Given the description of an element on the screen output the (x, y) to click on. 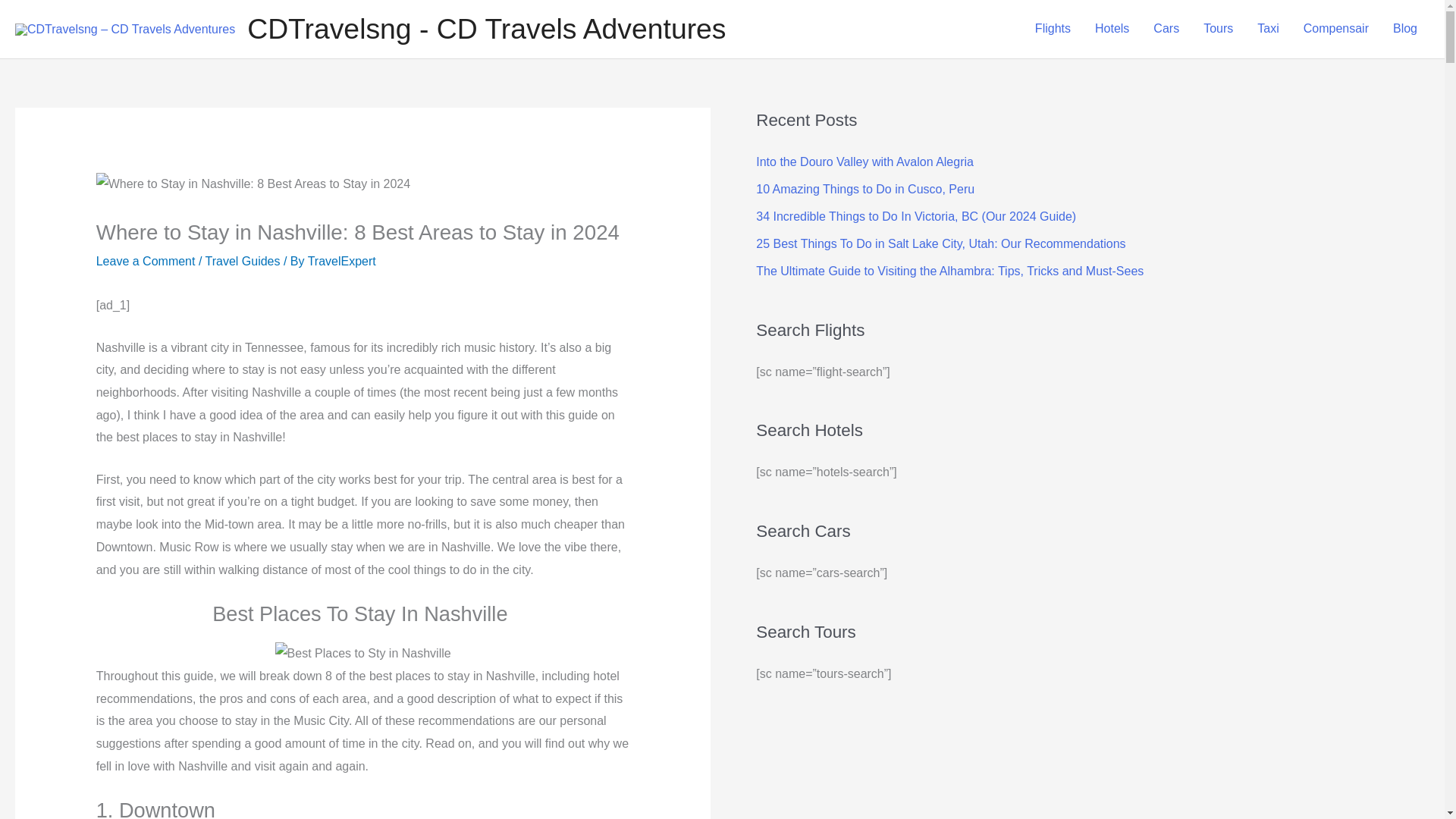
Cars (1166, 28)
Hotels (1112, 28)
Flights (1053, 28)
Compensair (1335, 28)
View all posts by TravelExpert (341, 260)
Tours (1217, 28)
CDTravelsng - CD Travels Adventures (486, 29)
Blog (1404, 28)
